Given the description of an element on the screen output the (x, y) to click on. 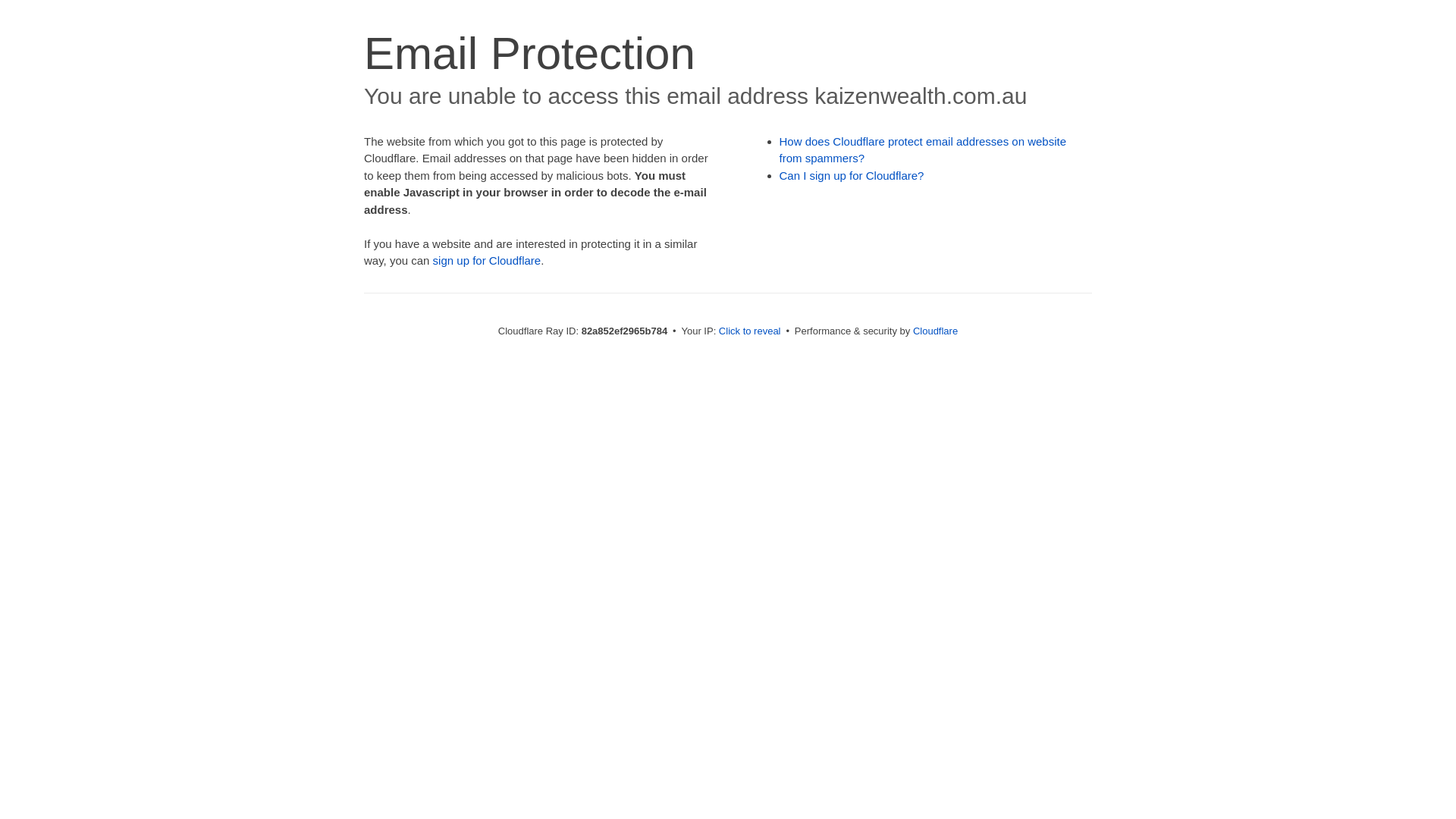
Click to reveal Element type: text (749, 330)
Cloudflare Element type: text (935, 330)
sign up for Cloudflare Element type: text (487, 260)
Can I sign up for Cloudflare? Element type: text (851, 175)
